Given the description of an element on the screen output the (x, y) to click on. 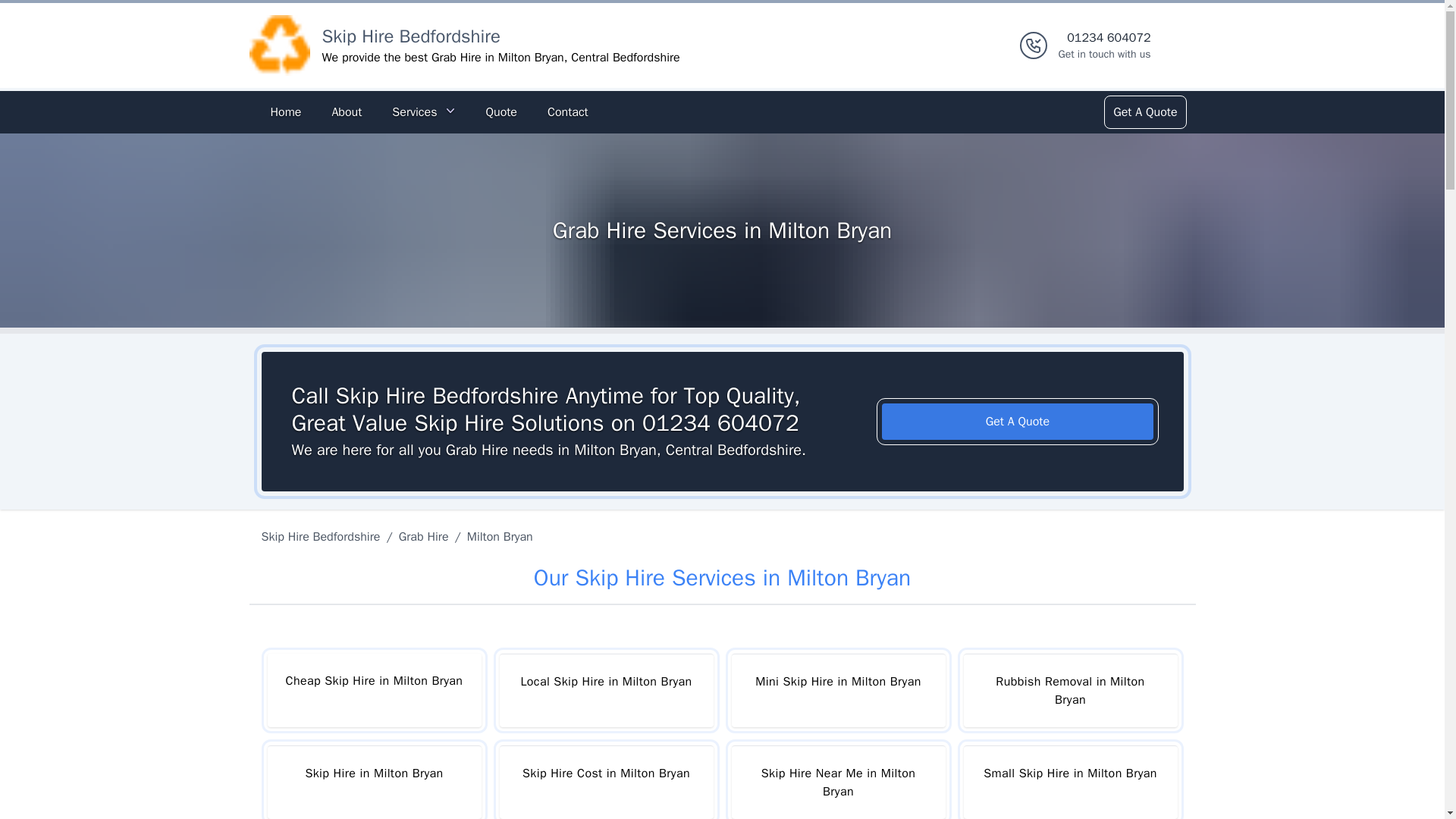
Skip Hire in Milton Bryan (373, 782)
Skip Hire Cost in Milton Bryan (606, 782)
Small Skip Hire in Milton Bryan (1069, 782)
About (346, 112)
Contact (567, 112)
Quote (500, 112)
Get A Quote (1017, 421)
Grab Hire (423, 536)
Cheap Skip Hire in Milton Bryan (373, 690)
Home (285, 112)
Rubbish Removal in Milton Bryan (1069, 690)
Skip Hire Bedfordshire (322, 536)
Logo (278, 45)
Skip Hire Bedfordshire (410, 36)
Skip Hire Near Me in Milton Bryan (837, 782)
